Given the description of an element on the screen output the (x, y) to click on. 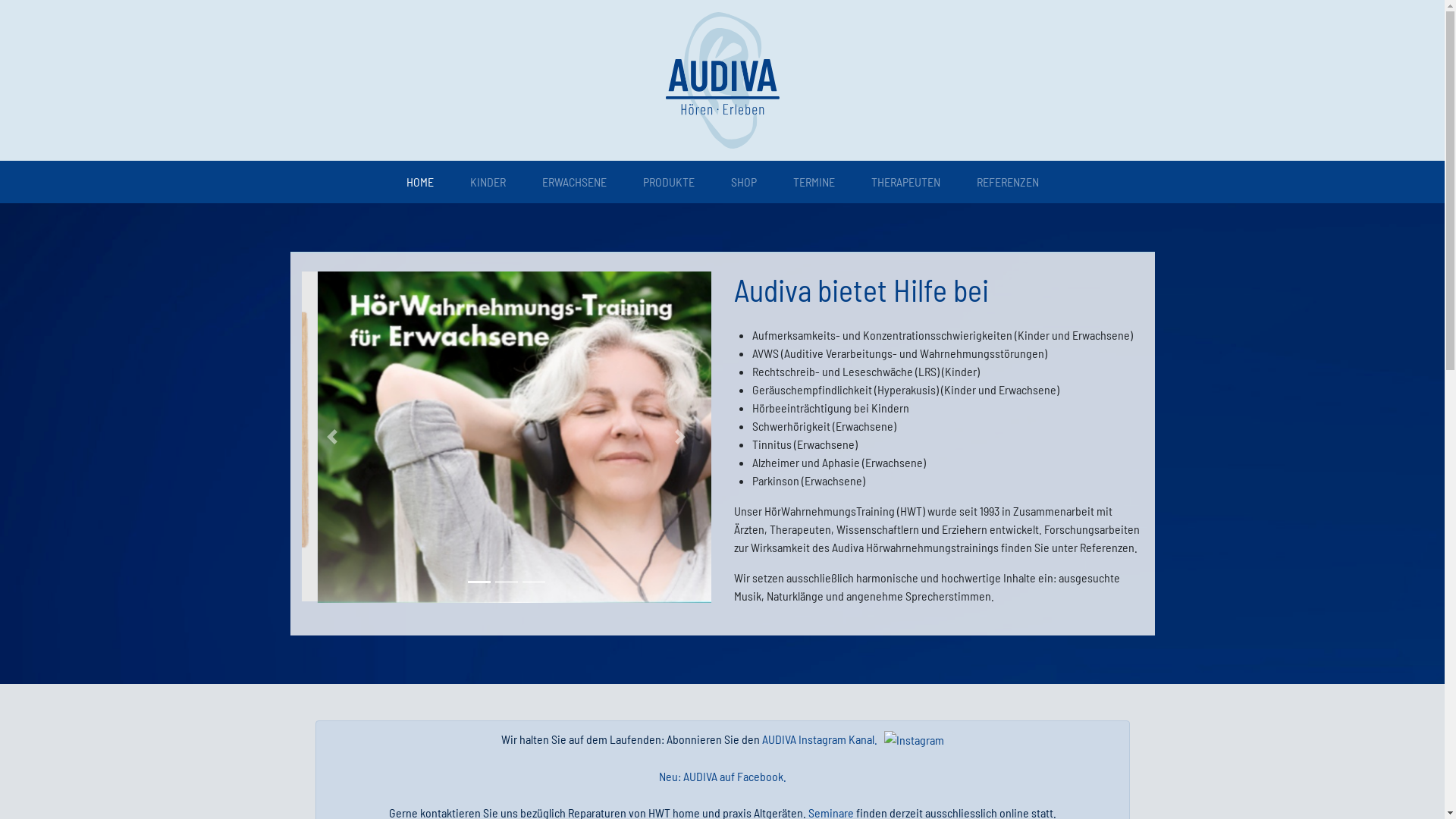
HOME
(CURRENT) Element type: text (419, 181)
TERMINE Element type: text (813, 181)
REFERENZEN Element type: text (1007, 181)
ERWACHSENE Element type: text (573, 181)
AUDIVA Instagram Kanal. Element type: text (818, 738)
SHOP Element type: text (743, 181)
PRODUKTE Element type: text (668, 181)
KINDER Element type: text (487, 181)
Previous Element type: text (332, 437)
Next Element type: text (679, 437)
Neu: AUDIVA auf Facebook. Element type: text (721, 775)
THERAPEUTEN Element type: text (904, 181)
